Given the description of an element on the screen output the (x, y) to click on. 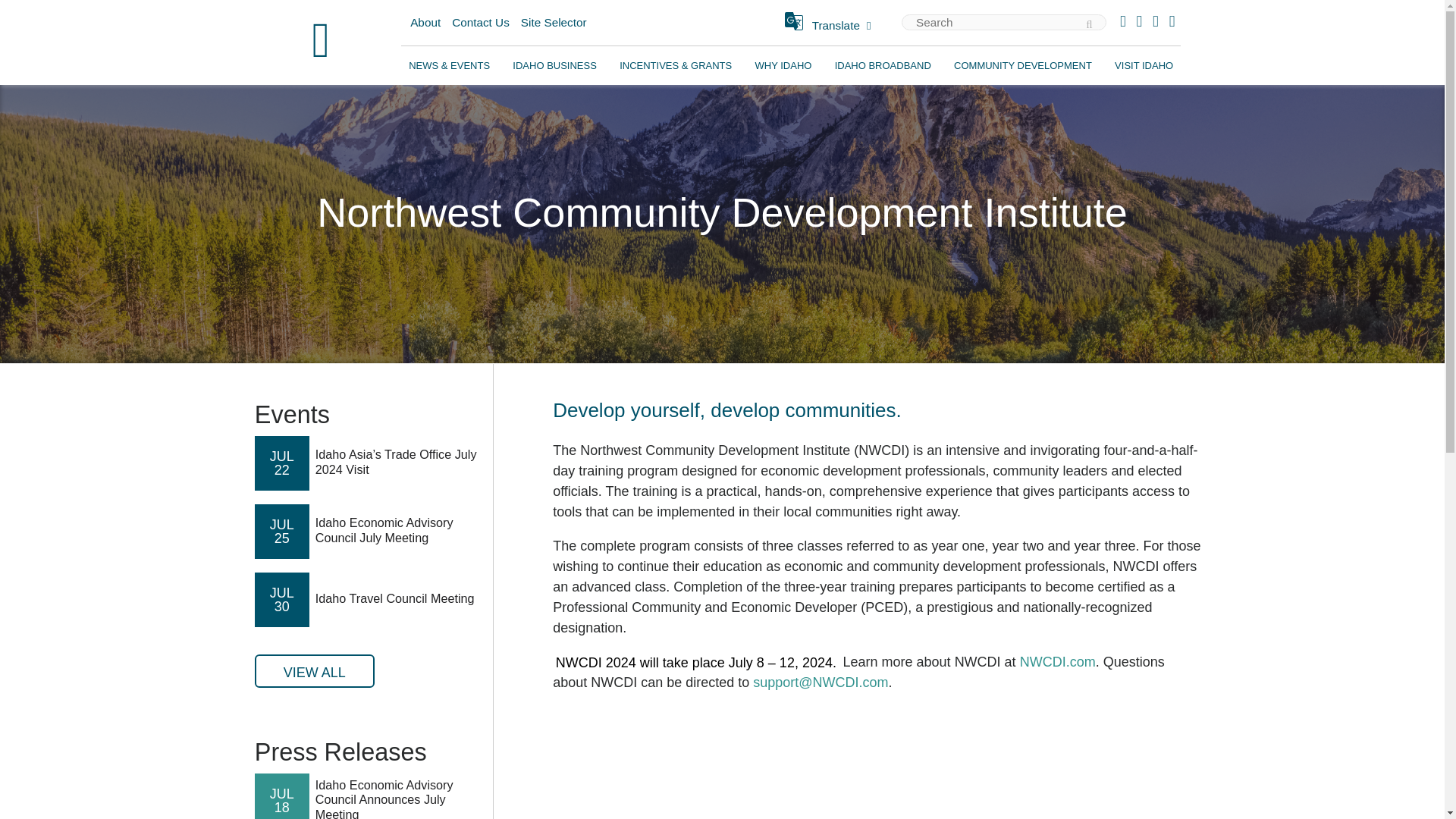
Home (320, 42)
